Given the description of an element on the screen output the (x, y) to click on. 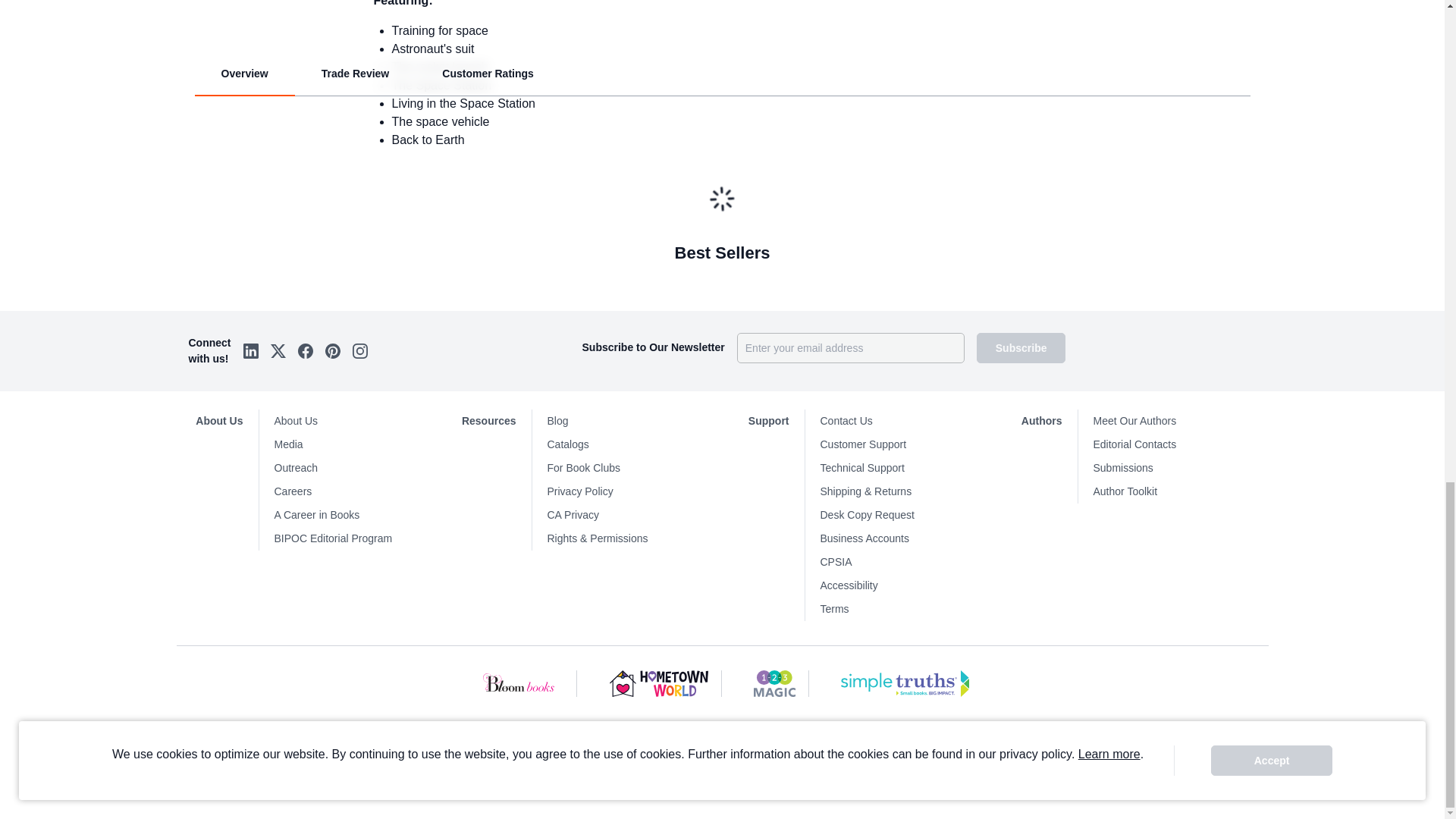
Hometown World (659, 683)
Bloom Book (520, 683)
Blog (634, 421)
Simple Truths (905, 683)
123 Magic (774, 683)
Submissions (1180, 467)
Author Toolkit (1180, 490)
